Given the description of an element on the screen output the (x, y) to click on. 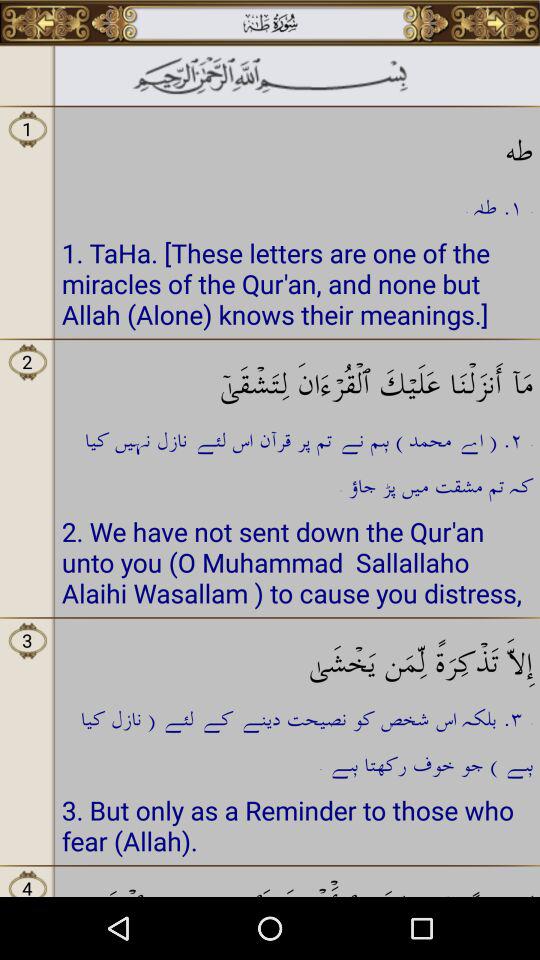
go back (45, 23)
